Given the description of an element on the screen output the (x, y) to click on. 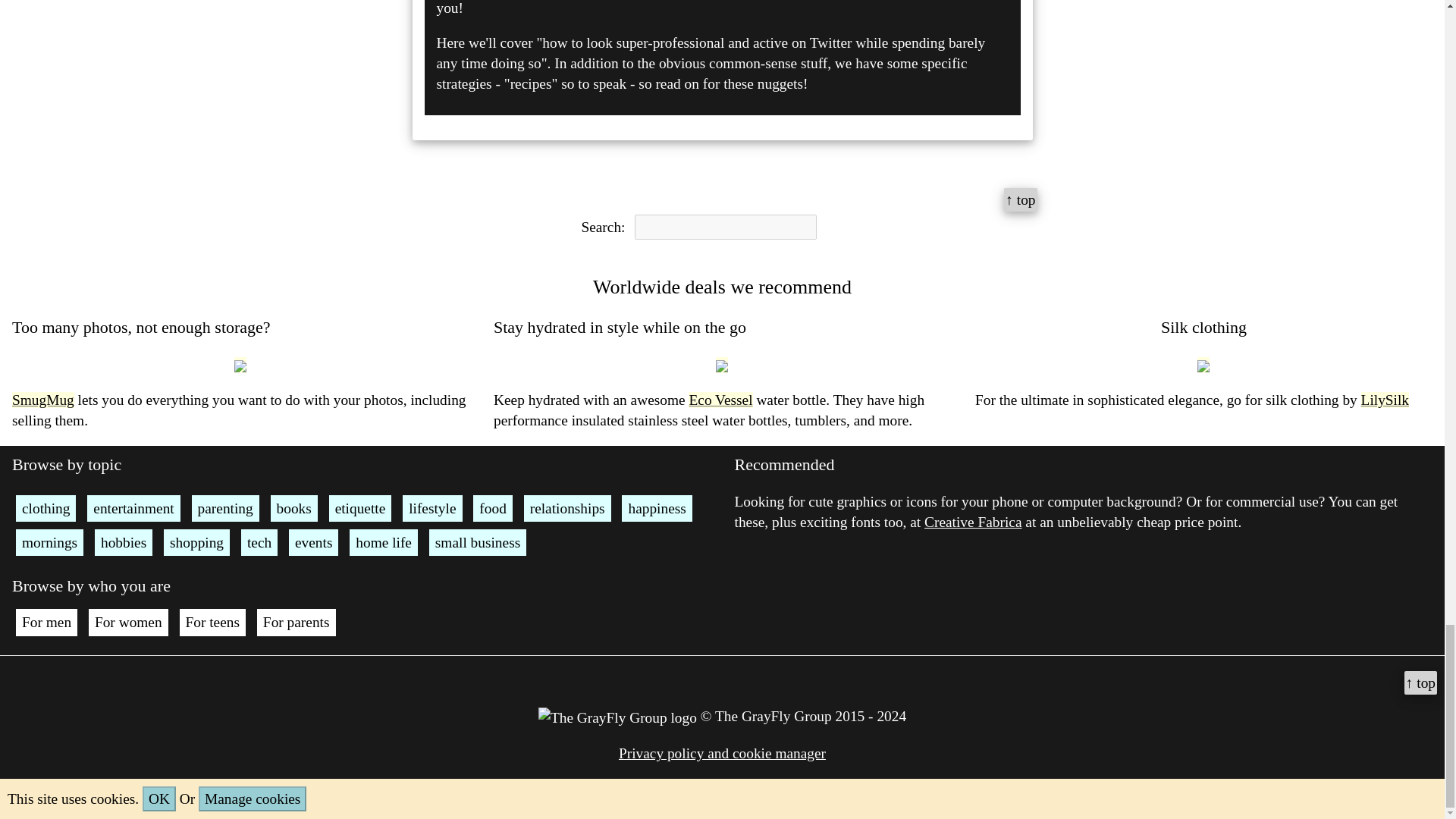
parenting (225, 508)
Eco Vessel (720, 399)
LilySilk (1385, 399)
clothing (45, 508)
SmugMug (42, 399)
books (293, 508)
entertainment (133, 508)
